Given the description of an element on the screen output the (x, y) to click on. 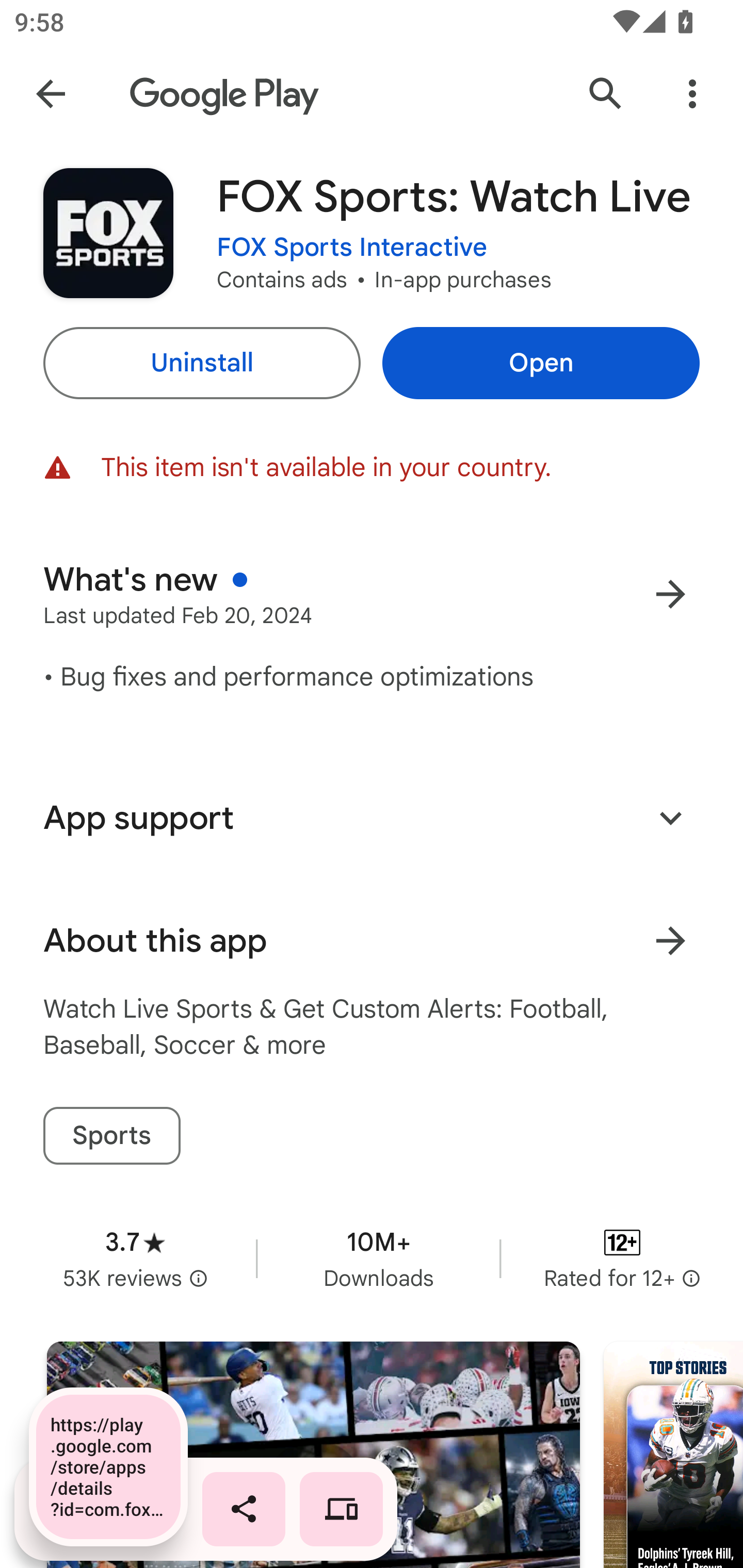
Navigate up (50, 93)
Search Google Play (605, 93)
More Options (692, 93)
FOX Sports Interactive (351, 247)
Uninstall (201, 362)
Open (540, 362)
More results for What's new (670, 594)
App support Expand (371, 817)
Expand (670, 817)
About this app Learn more About this app (371, 940)
Learn more About this app (670, 940)
Sports tag (111, 1135)
Average rating 3.7 stars in 53 thousand reviews (135, 1258)
Content rating Rated for 12+ (622, 1258)
Play trailer for "FOX Sports: Watch Live" (313, 1455)
